Given the description of an element on the screen output the (x, y) to click on. 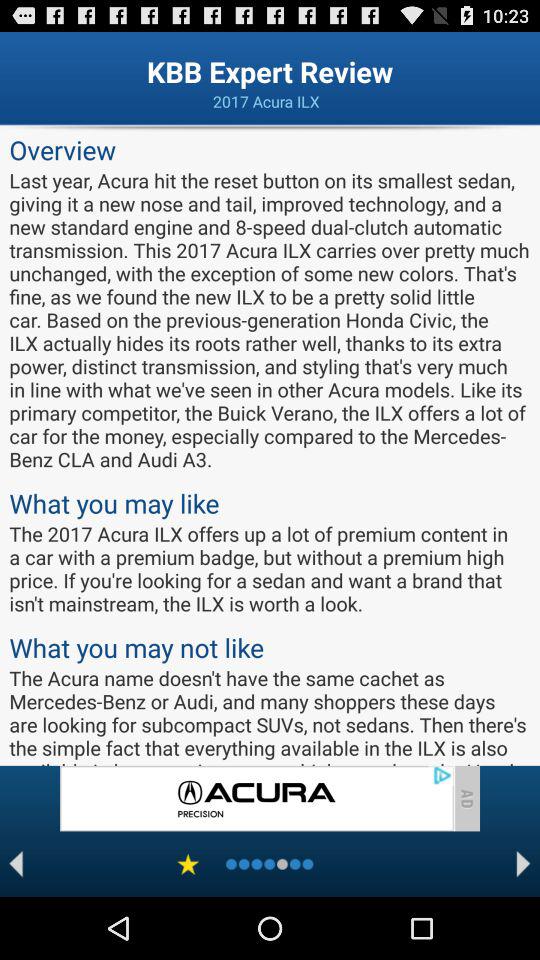
advertisement (256, 798)
